Given the description of an element on the screen output the (x, y) to click on. 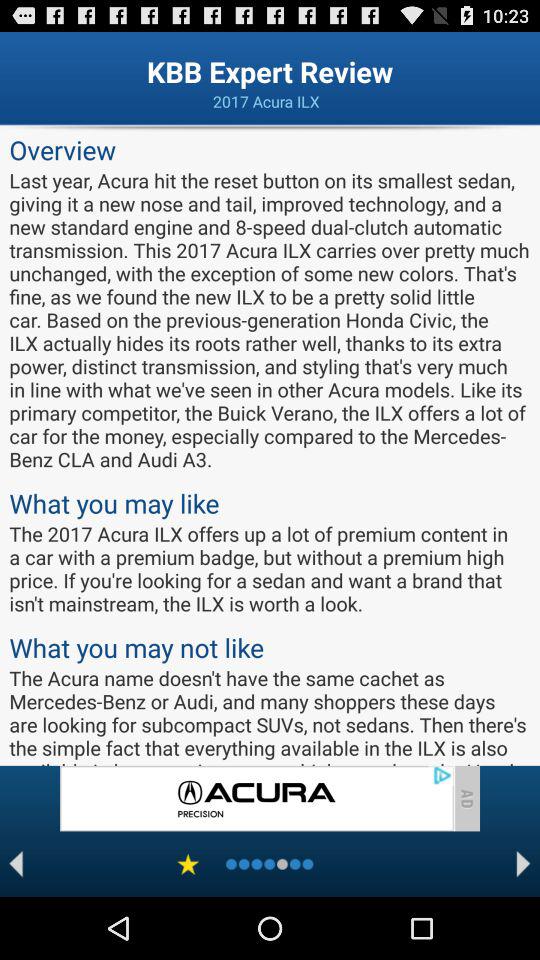
advertisement (256, 798)
